Given the description of an element on the screen output the (x, y) to click on. 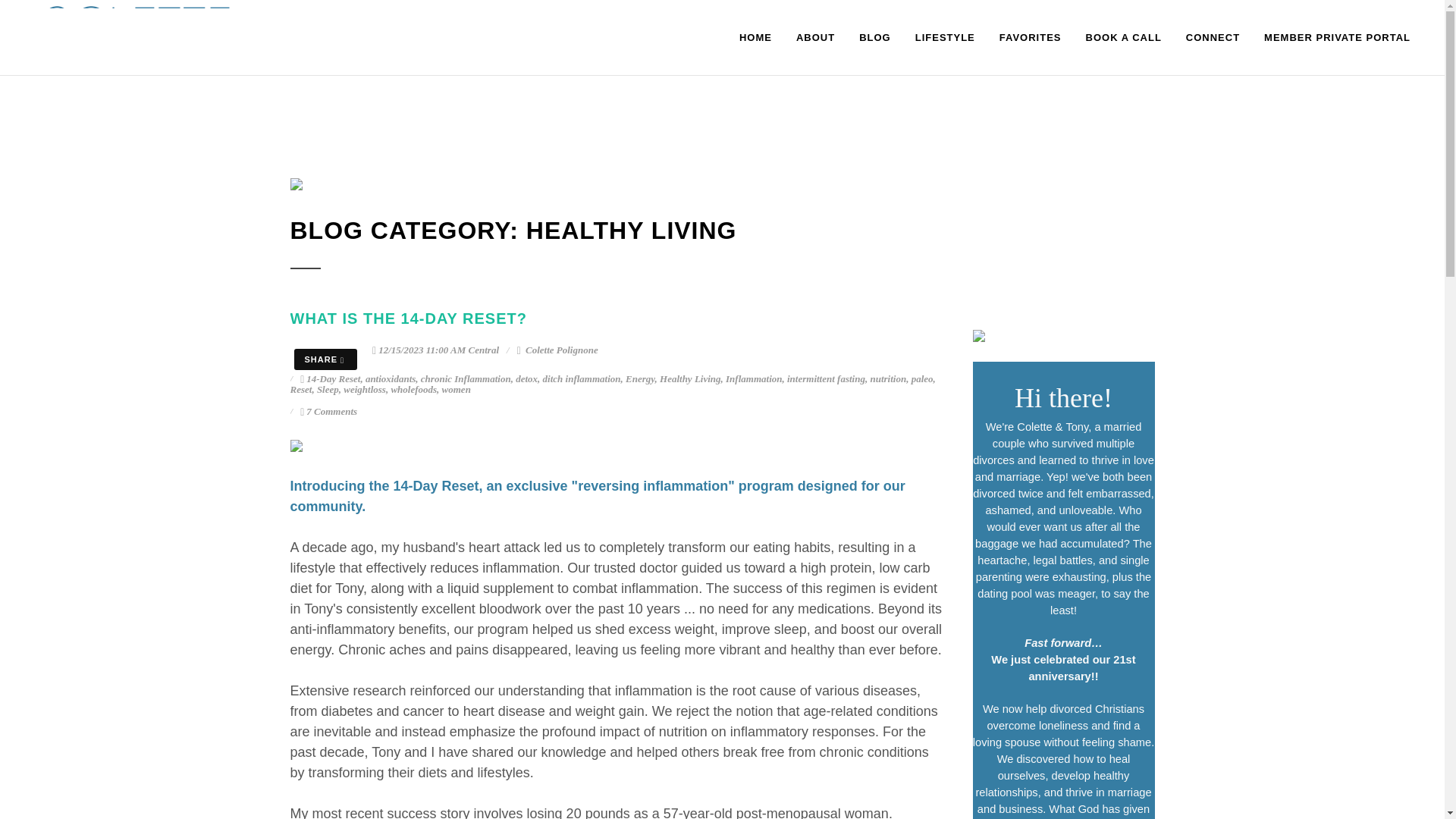
WHAT IS THE 14-DAY RESET? (407, 318)
MEMBER PRIVATE PORTAL (1337, 38)
CONNECT (1212, 38)
FAVORITES (1030, 38)
antioxidants (389, 378)
14-Day Reset (332, 378)
BOOK A CALL (1123, 38)
LIFESTYLE (945, 38)
SHARE (326, 359)
chronic Inflammation (465, 378)
